Given the description of an element on the screen output the (x, y) to click on. 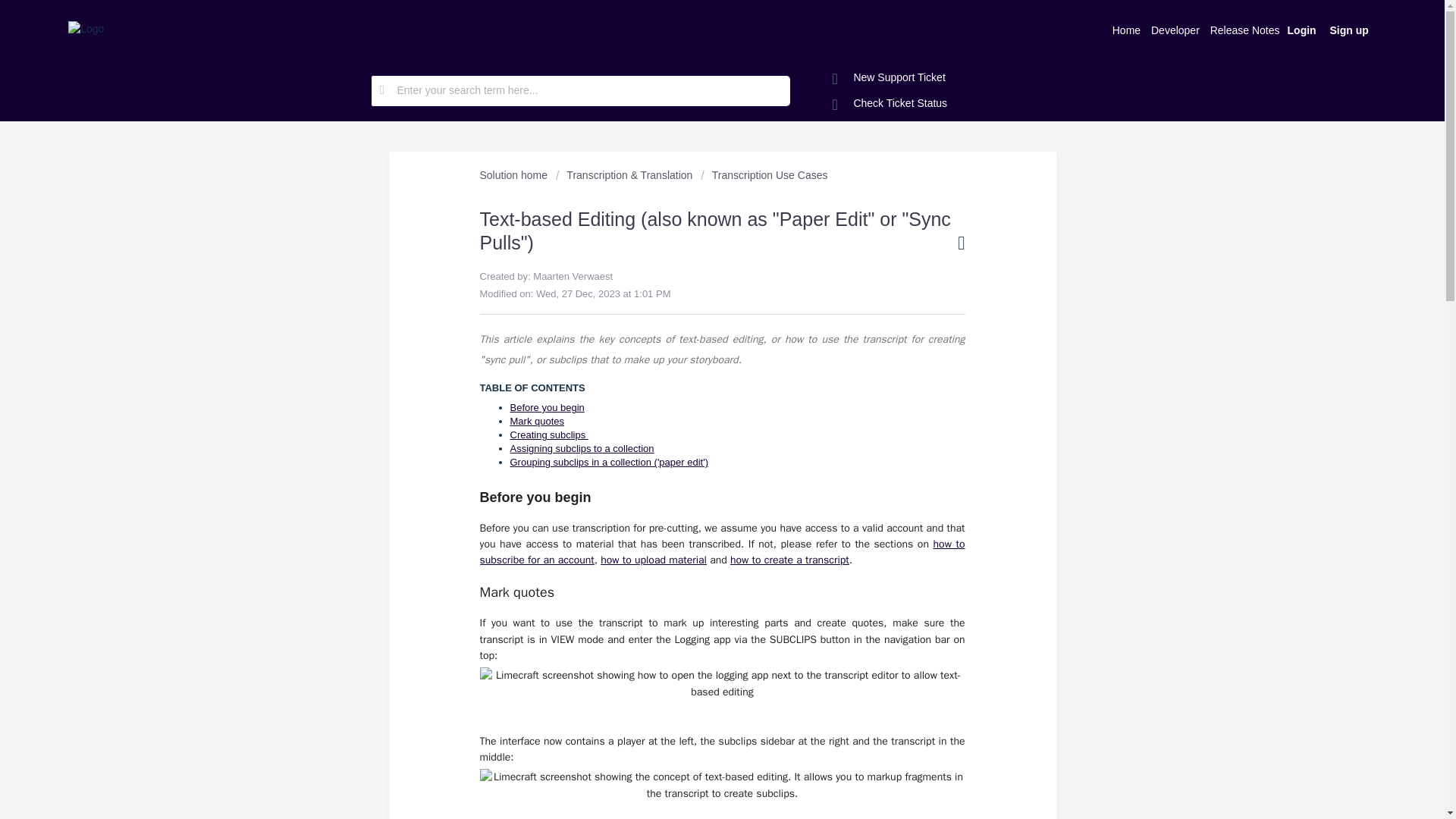
Before you begin (546, 407)
how to subscribe for an account (721, 551)
New support ticket (888, 77)
Transcription Use Cases (763, 174)
Check ticket status (889, 103)
Check Ticket Status (889, 103)
New Support Ticket (888, 77)
how to upload material (652, 559)
Solution home (514, 174)
Login (1302, 29)
